Given the description of an element on the screen output the (x, y) to click on. 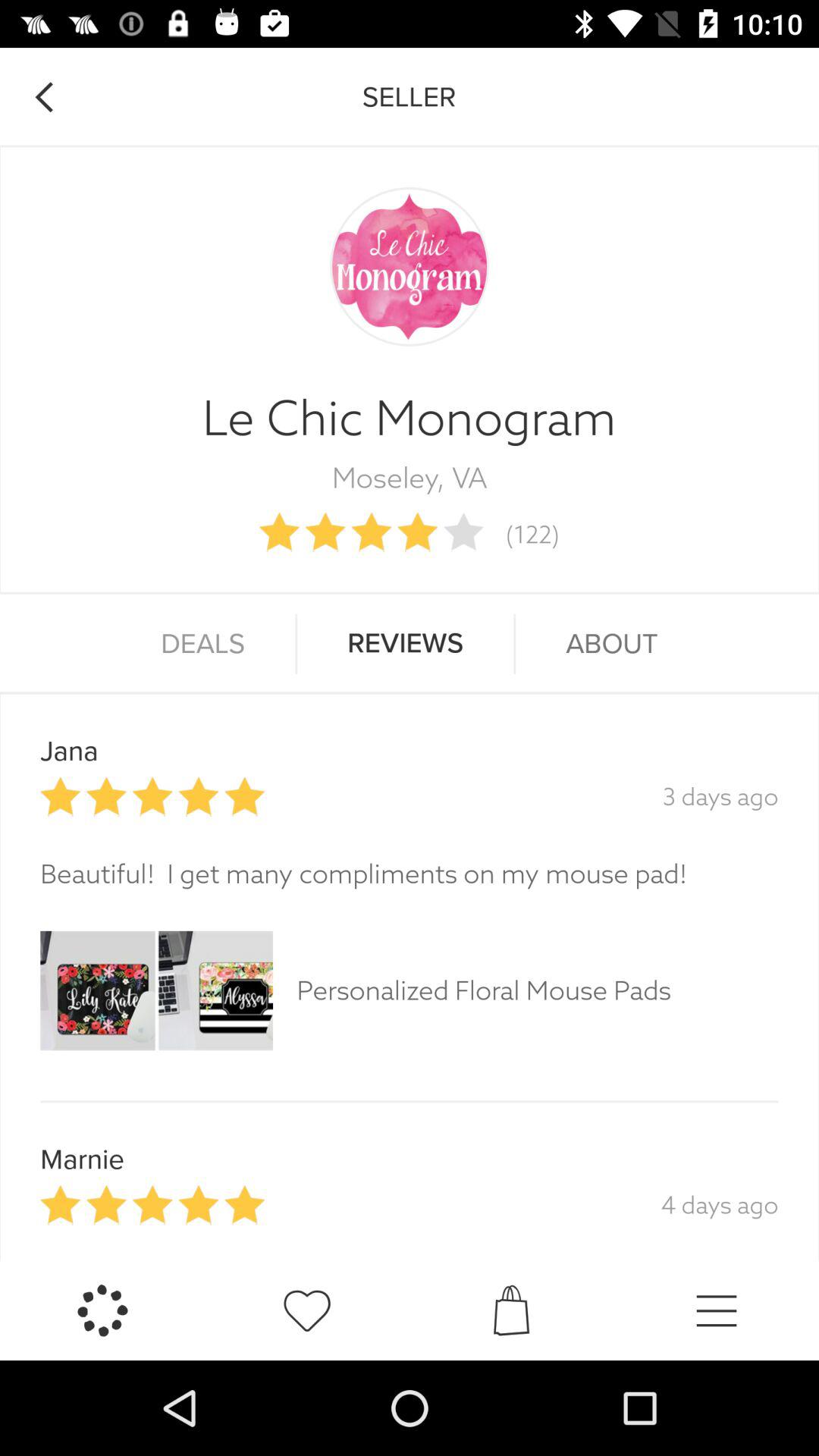
choose icon to the right of the reviews item (611, 643)
